Given the description of an element on the screen output the (x, y) to click on. 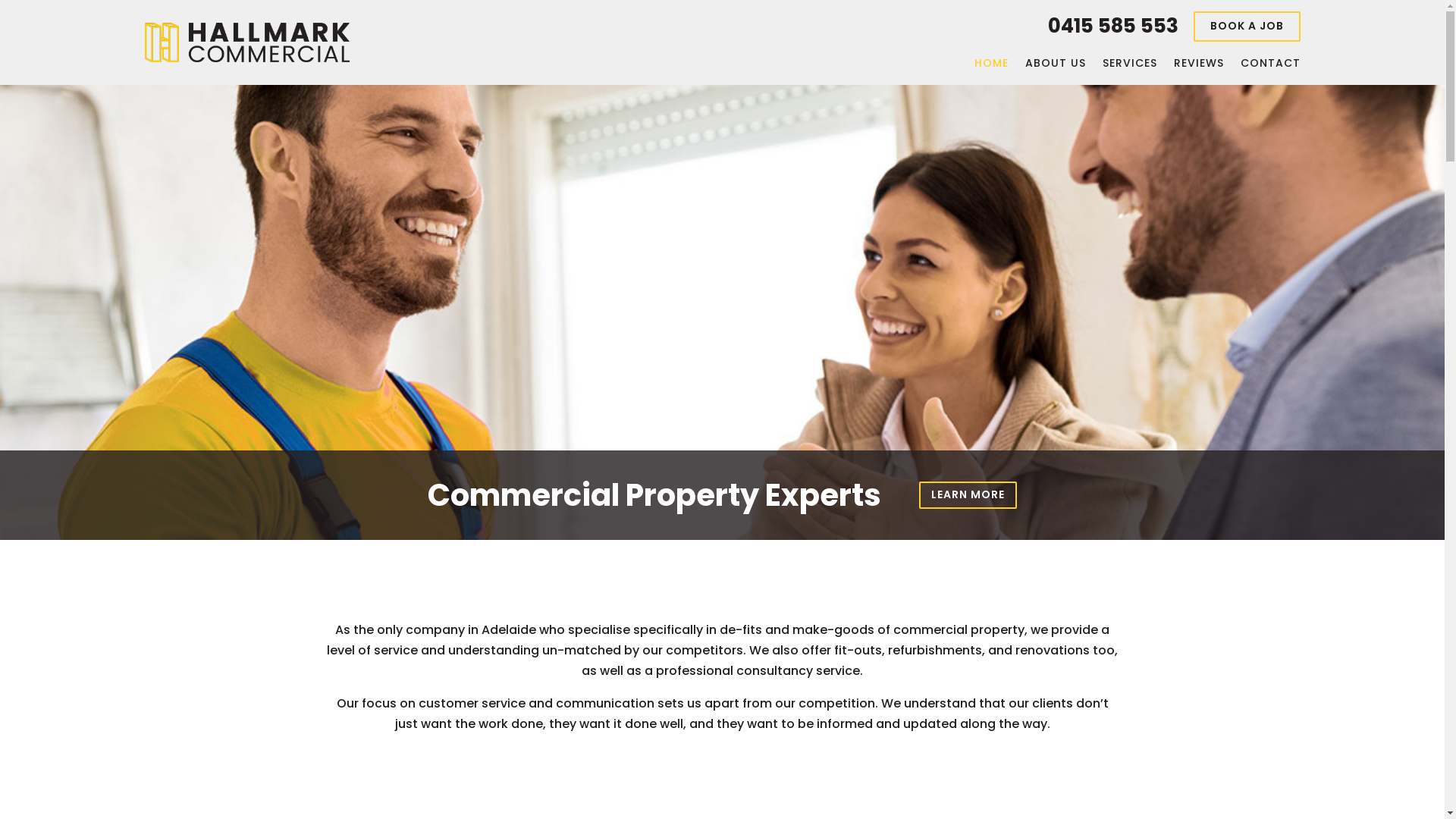
ABOUT US Element type: text (1055, 57)
REVIEWS Element type: text (1198, 57)
HOME Element type: text (990, 57)
CONTACT Element type: text (1270, 57)
BOOK A JOB Element type: text (1246, 26)
LEARN MORE Element type: text (967, 494)
SERVICES Element type: text (1129, 57)
0415 585 553 Element type: text (1113, 25)
